Given the description of an element on the screen output the (x, y) to click on. 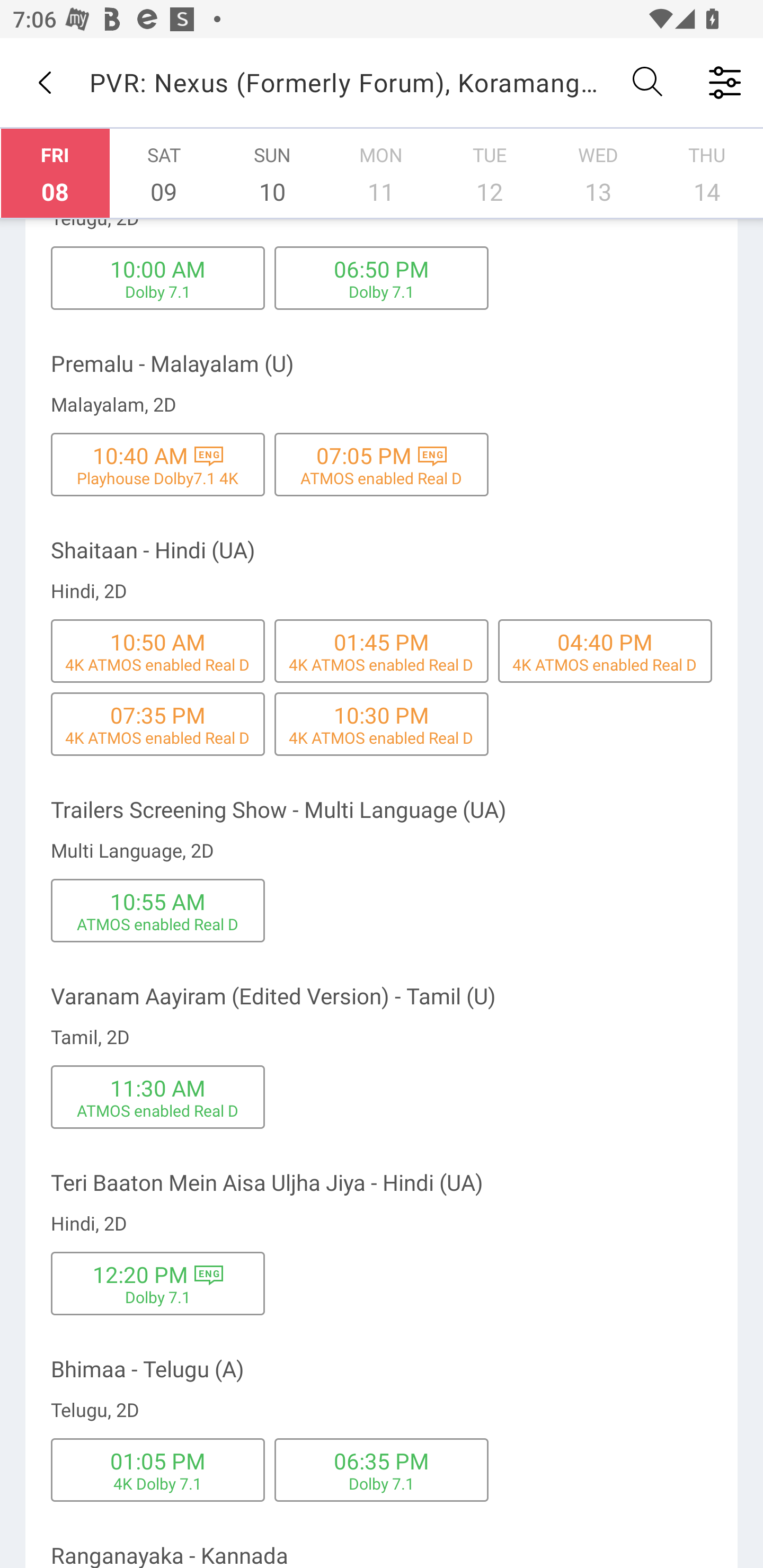
Navigate up (44, 82)
Search (648, 81)
Filter (724, 81)
SAT 09 MAR (163, 172)
SUN 10 MAR (272, 172)
MON 11 MAR (380, 172)
TUE 12 MAR (489, 172)
WED 13 MAR (598, 172)
THU 14 MAR (707, 172)
10:00 AM (157, 268)
06:50 PM (381, 268)
Dolby 7.1 (157, 291)
Dolby 7.1 (381, 291)
10:40 AM (140, 455)
07:05 PM (364, 455)
Playhouse Dolby7.1 4K (157, 478)
ATMOS enabled Real D (381, 478)
10:50 AM (157, 641)
01:45 PM (381, 641)
04:40 PM (605, 641)
4K ATMOS enabled Real D (157, 664)
4K ATMOS enabled Real D (380, 664)
4K ATMOS enabled Real D (604, 664)
07:35 PM (157, 714)
10:30 PM (381, 714)
4K ATMOS enabled Real D (157, 737)
4K ATMOS enabled Real D (380, 737)
10:55 AM (157, 900)
ATMOS enabled Real D (157, 923)
11:30 AM (157, 1087)
ATMOS enabled Real D (157, 1110)
12:20 PM (140, 1273)
Dolby 7.1 (157, 1296)
01:05 PM (157, 1460)
06:35 PM (381, 1460)
4K Dolby 7.1 (157, 1483)
Dolby 7.1 (381, 1483)
